Given the description of an element on the screen output the (x, y) to click on. 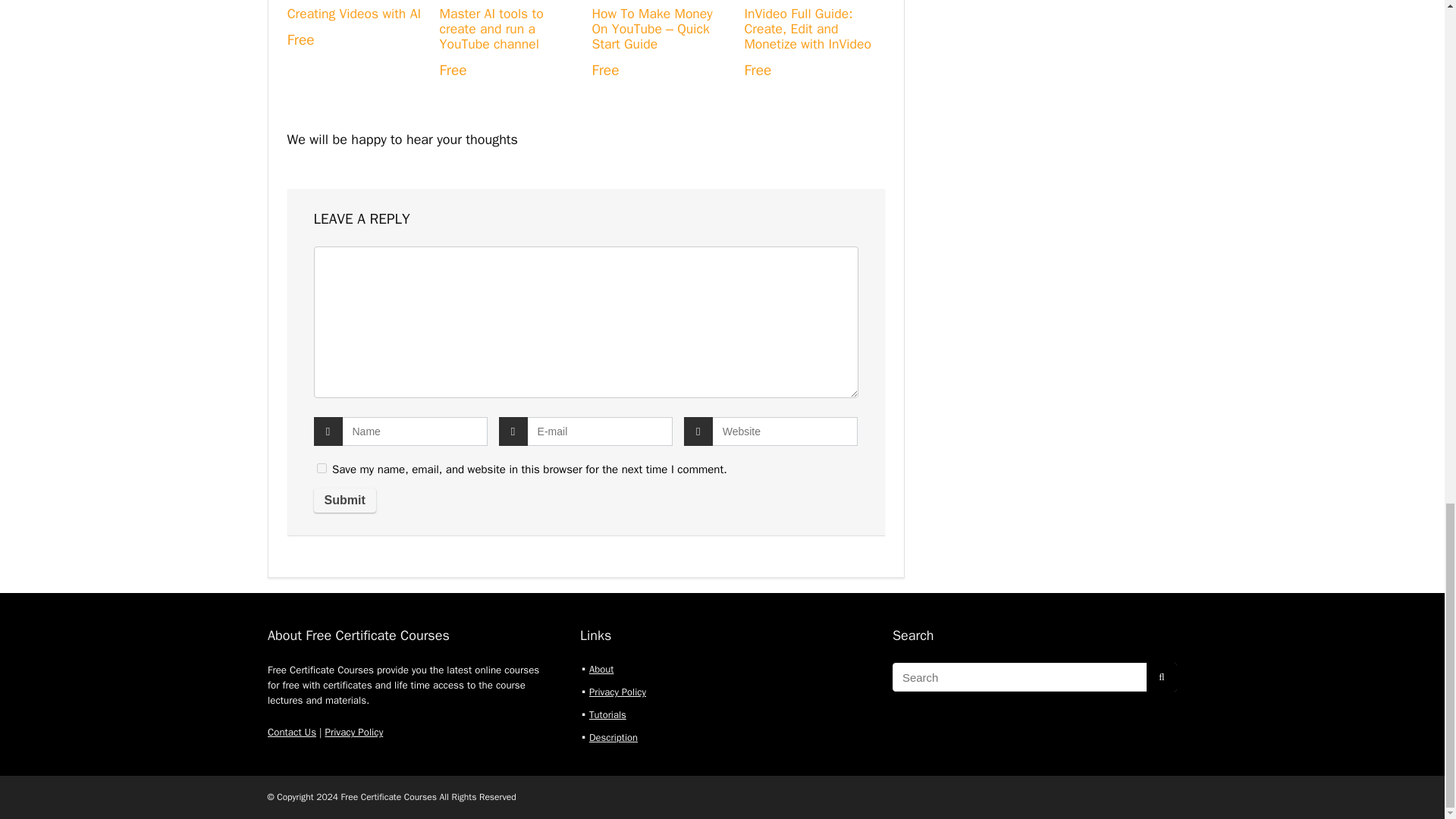
Master AI tools to create and run a YouTube channel (491, 28)
InVideo Full Guide: Create, Edit and Monetize with InVideo (807, 28)
yes (321, 468)
Submit (344, 500)
Submit (344, 500)
Creating Videos with AI (353, 13)
